Given the description of an element on the screen output the (x, y) to click on. 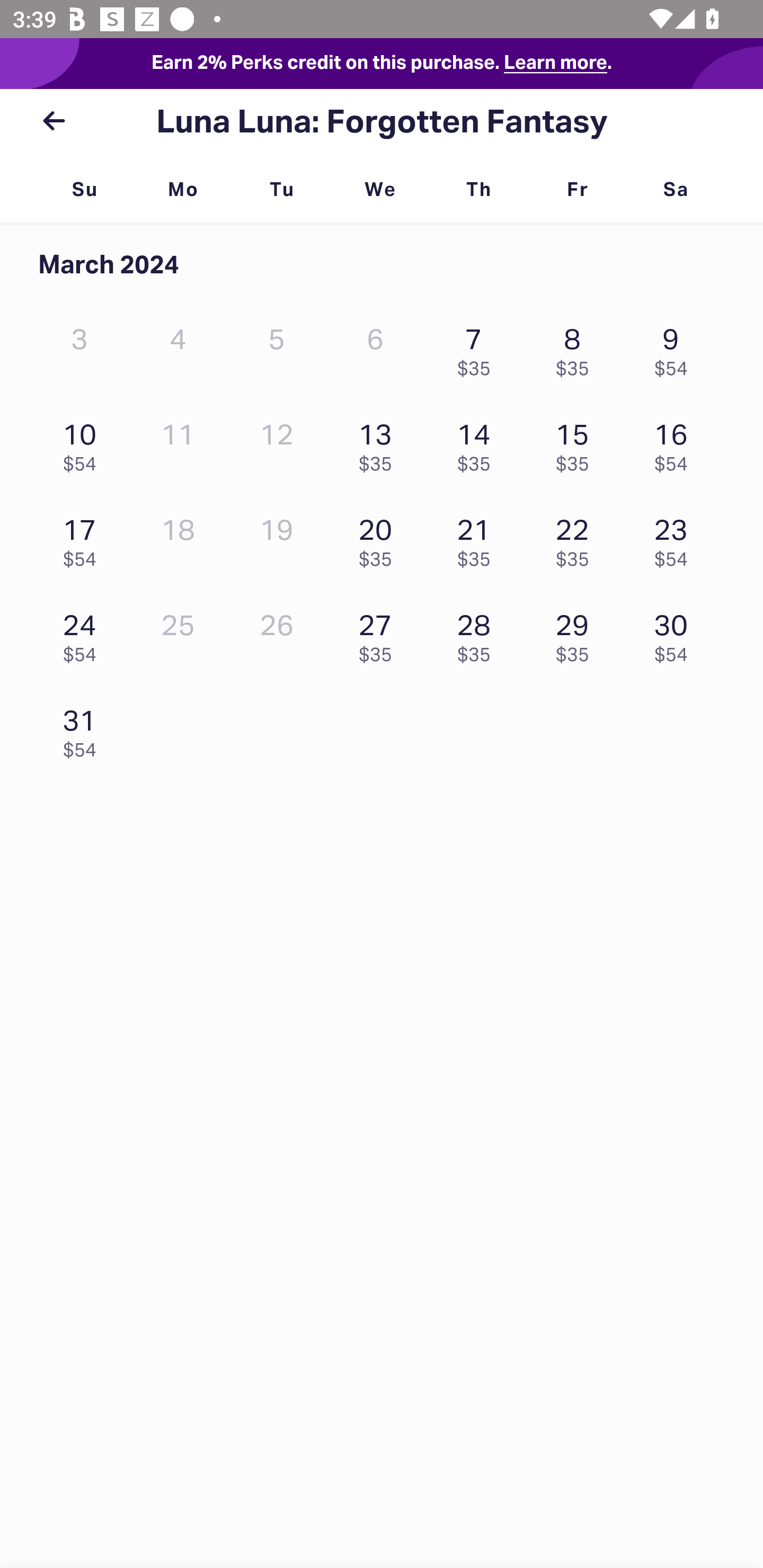
Earn 2% Perks credit on this purchase. Learn more. (381, 63)
back button (53, 120)
7 $35 (478, 347)
8 $35 (577, 347)
9 $54 (675, 347)
10 $54 (84, 442)
13 $35 (379, 442)
14 $35 (478, 442)
15 $35 (577, 442)
16 $54 (675, 442)
17 $54 (84, 538)
20 $35 (379, 538)
21 $35 (478, 538)
22 $35 (577, 538)
23 $54 (675, 538)
24 $54 (84, 633)
27 $35 (379, 633)
28 $35 (478, 633)
29 $35 (577, 633)
30 $54 (675, 633)
31 $54 (84, 728)
